Given the description of an element on the screen output the (x, y) to click on. 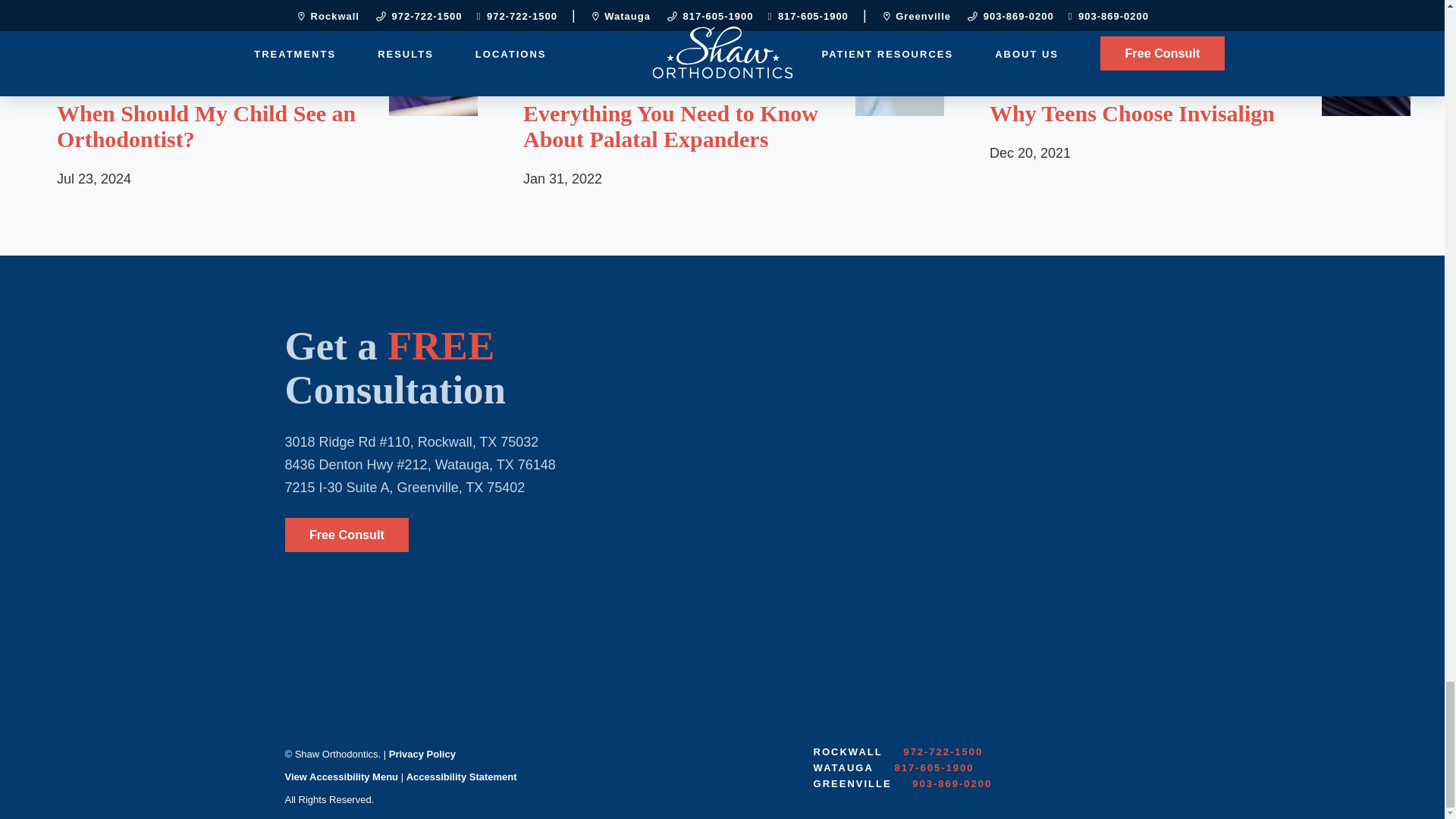
Everything You Need to Know About Palatal Expanders (677, 126)
When Should My Child See an Orthodontist? (211, 126)
Everything You Need to Know About Palatal Expanders (721, 58)
Why Teens Choose Invisalign (1144, 113)
Why Teens Choose Invisalign (1188, 58)
When Should My Child See an Orthodontist? (255, 58)
